Given the description of an element on the screen output the (x, y) to click on. 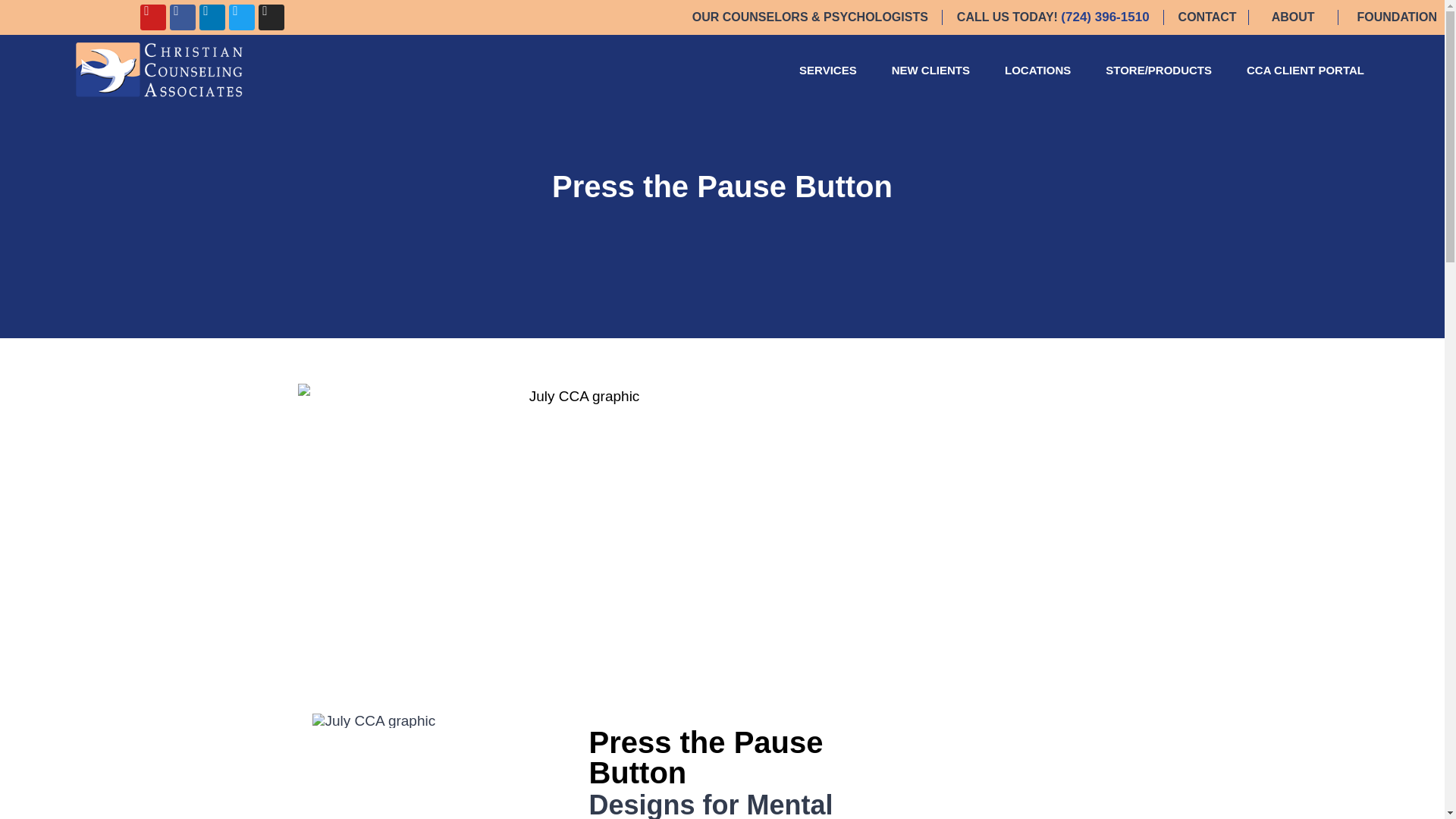
FOUNDATION (1396, 17)
ABOUT (1293, 17)
July CCA graphic (374, 720)
SERVICES (827, 69)
CONTACT (1206, 16)
